Given the description of an element on the screen output the (x, y) to click on. 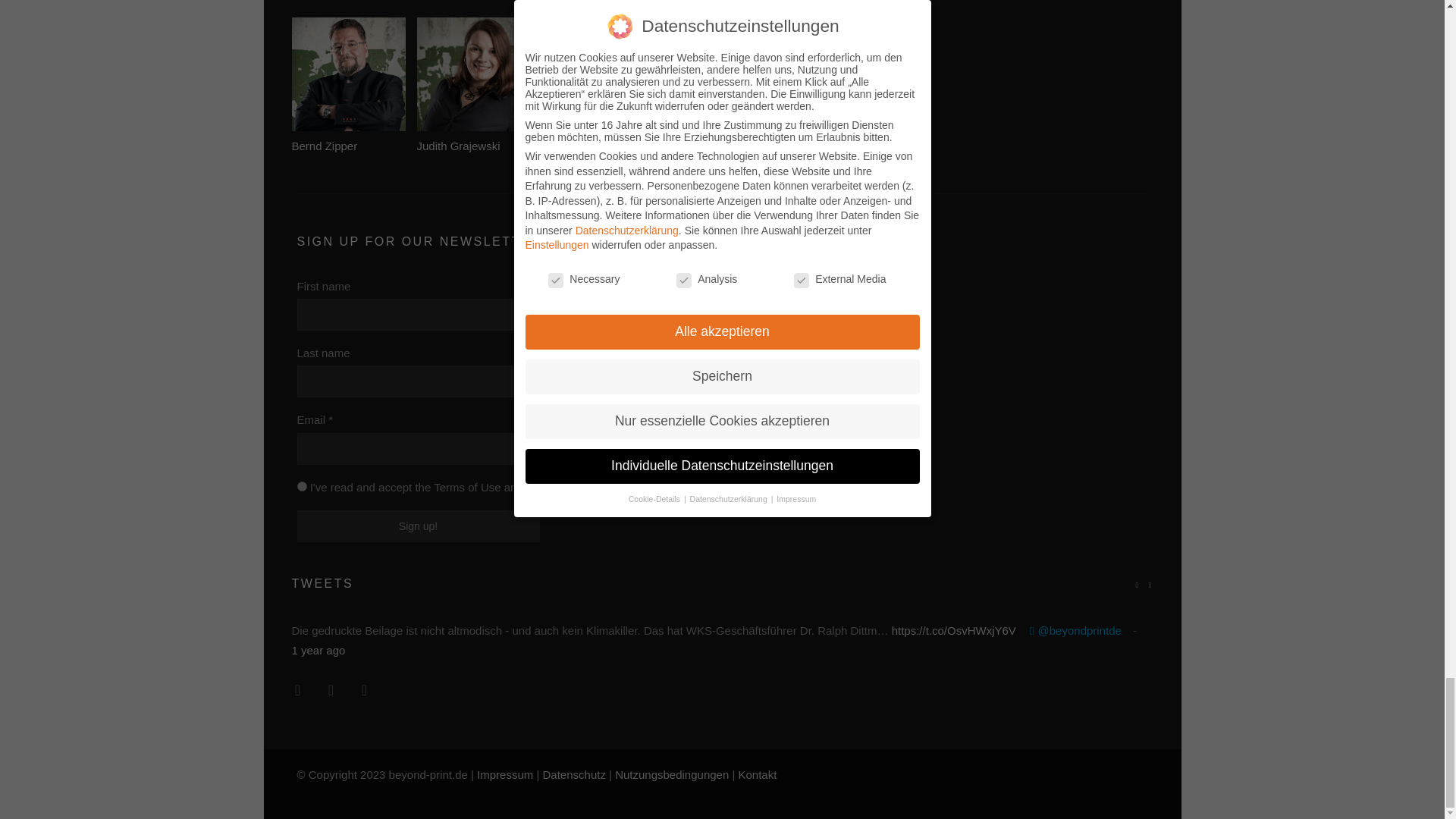
I've read and accept the Terms of Use and the Privacy Policy (302, 486)
Sign up! (418, 526)
